Given the description of an element on the screen output the (x, y) to click on. 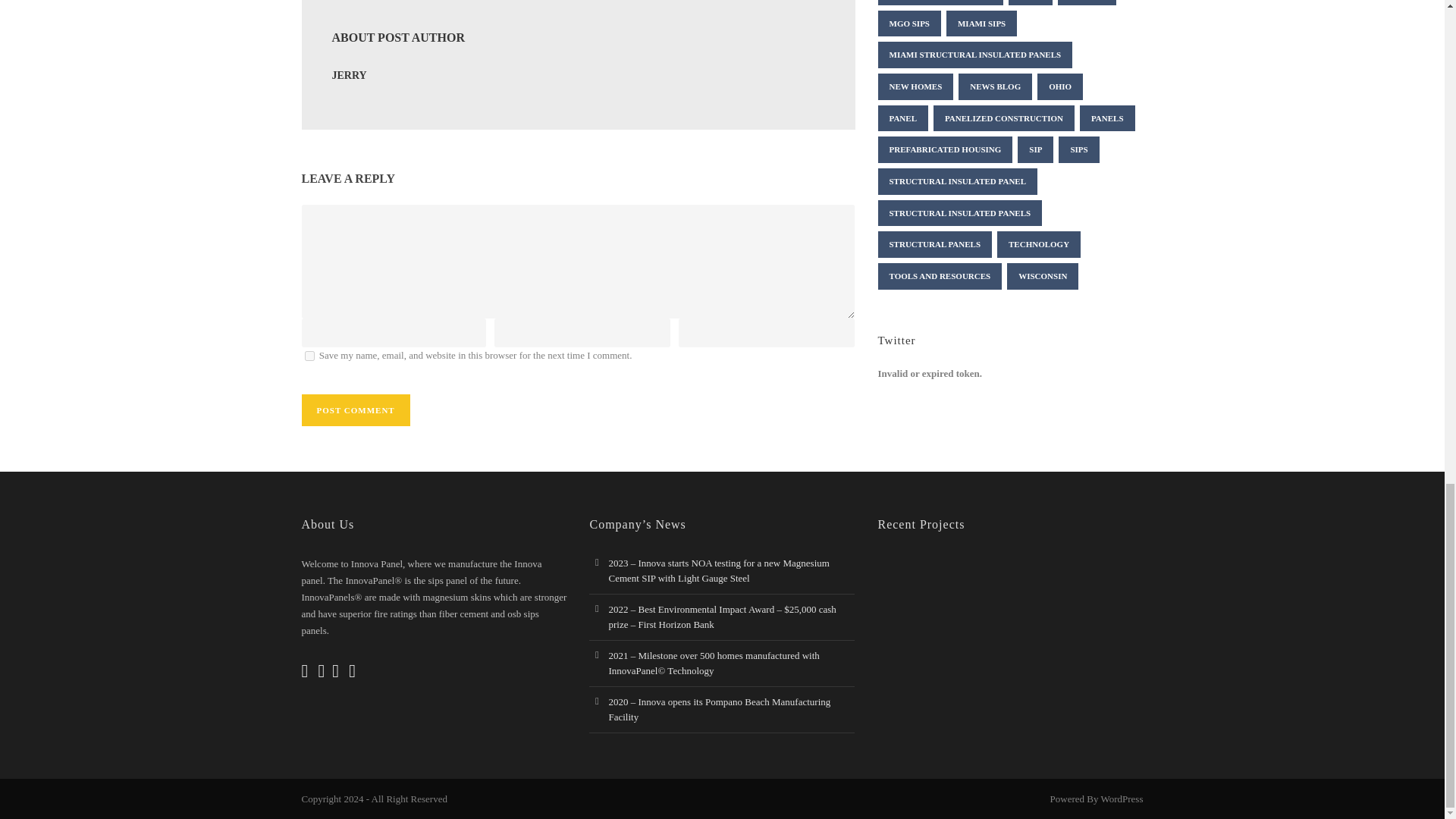
Posts by jerry (348, 75)
yes (309, 356)
Post Comment (355, 409)
